Given the description of an element on the screen output the (x, y) to click on. 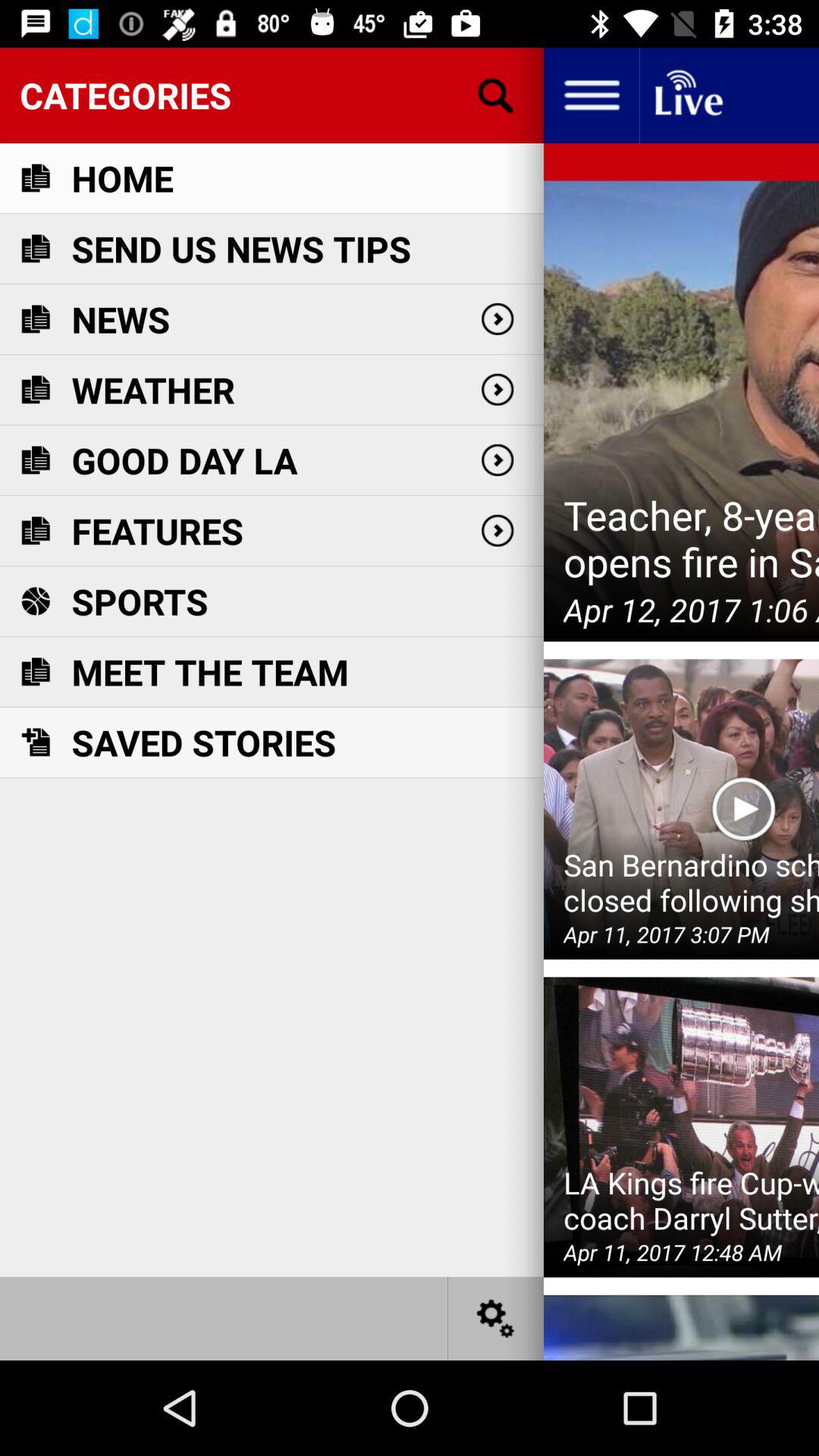
swipe to the meet the team item (209, 671)
